Given the description of an element on the screen output the (x, y) to click on. 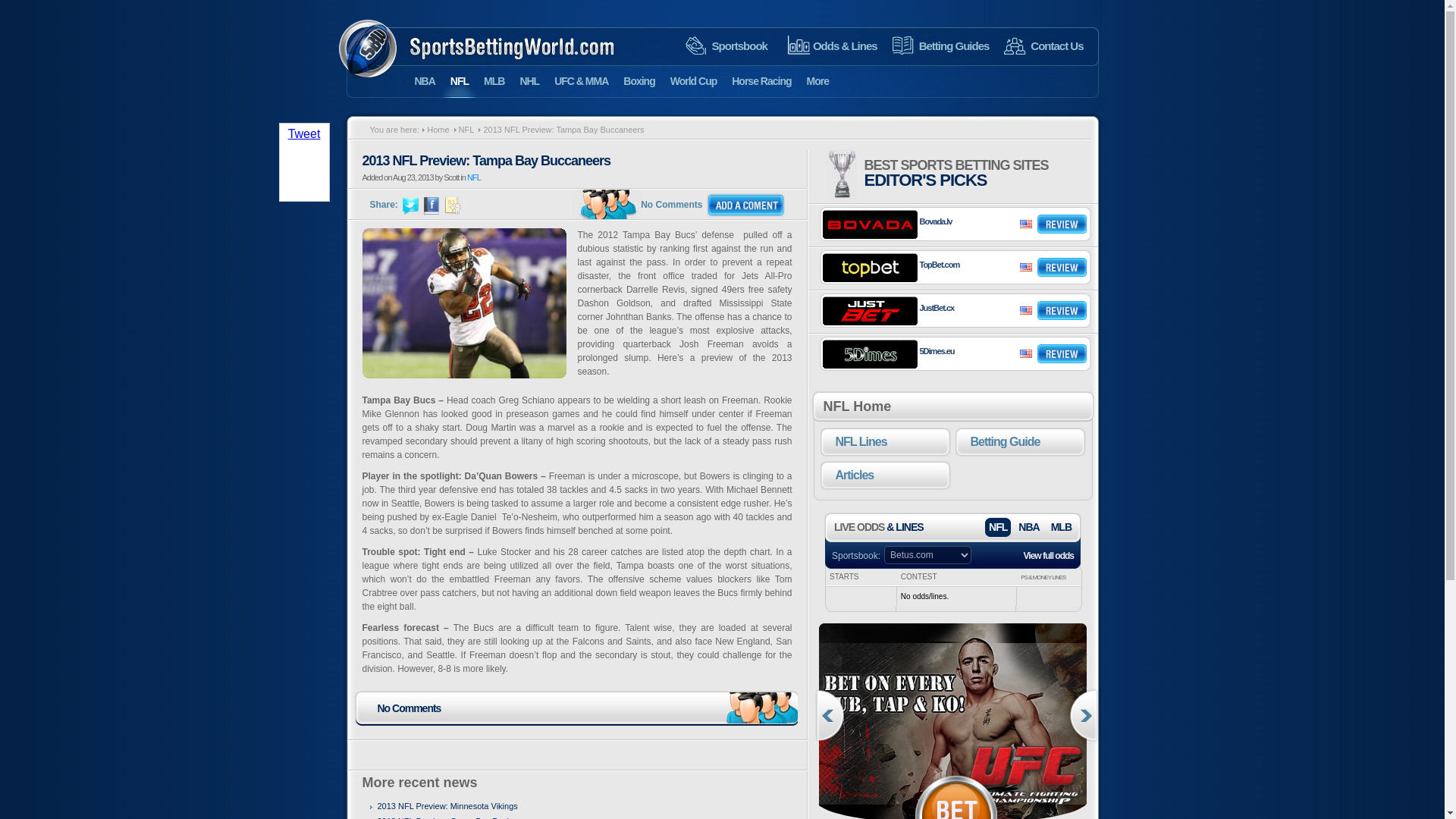
Contact Us (1043, 46)
View all posts in NFL (473, 176)
MLB (494, 81)
NFL (473, 176)
View all posts filed under Articles (885, 475)
UFC (955, 721)
World Cup (693, 81)
NFL (459, 81)
Sportsbook (726, 46)
NBA (424, 81)
Horse Racing (760, 81)
TopBet.com (938, 264)
Bovada.lv (935, 220)
NFL (463, 129)
More (817, 81)
